Given the description of an element on the screen output the (x, y) to click on. 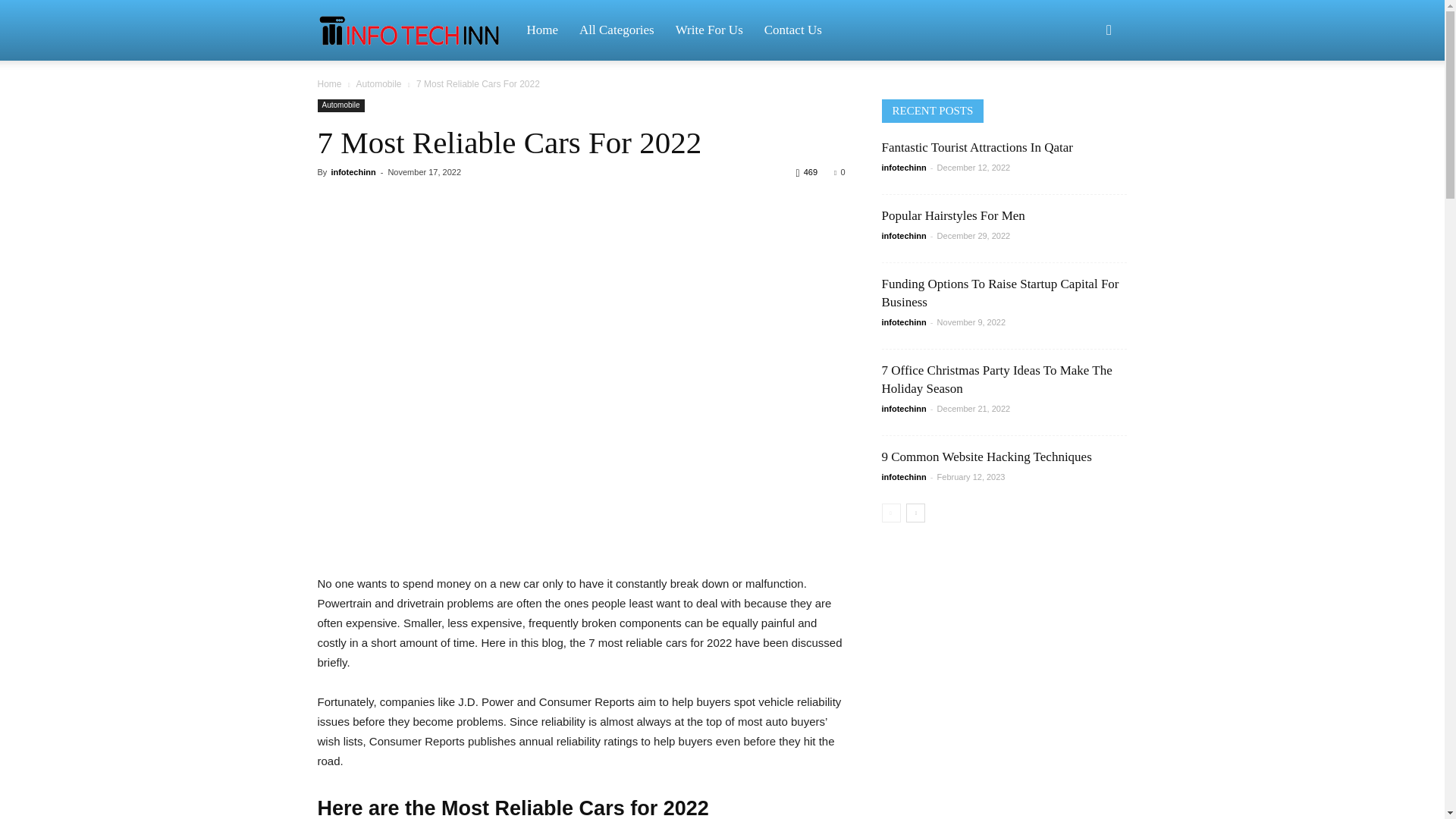
Write For Us (709, 30)
View all posts in Automobile (378, 83)
Info Tech Inn (416, 30)
All Categories (617, 30)
